Given the description of an element on the screen output the (x, y) to click on. 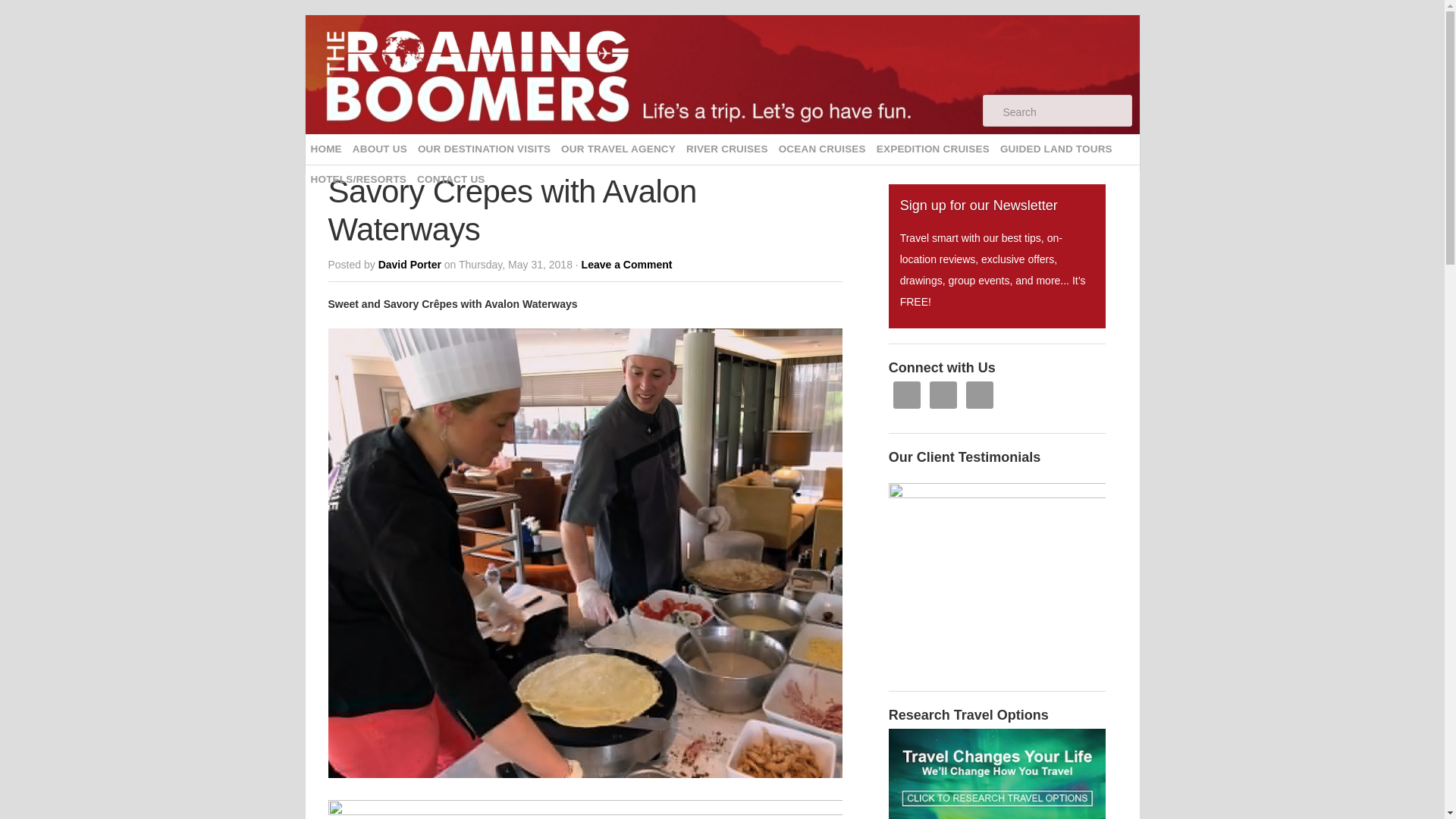
Search (1064, 111)
HOME (325, 149)
Posts by David Porter (409, 264)
OUR DESTINATION VISITS (484, 149)
ABOUT US (379, 149)
